Given the description of an element on the screen output the (x, y) to click on. 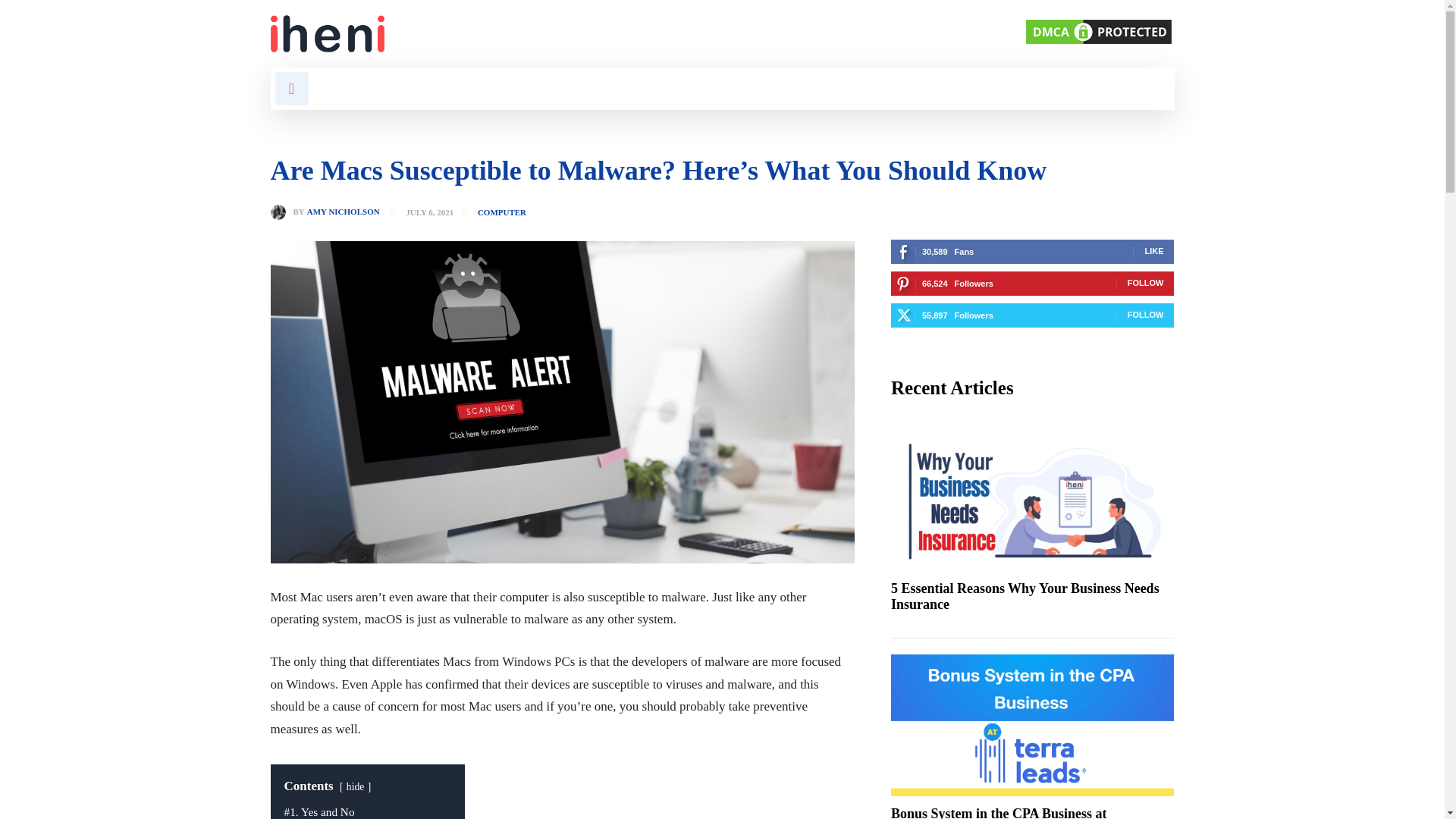
DMCA.com Protection Status (1097, 43)
iheni (326, 33)
iheni (486, 33)
Amy Nicholson (280, 212)
